Given the description of an element on the screen output the (x, y) to click on. 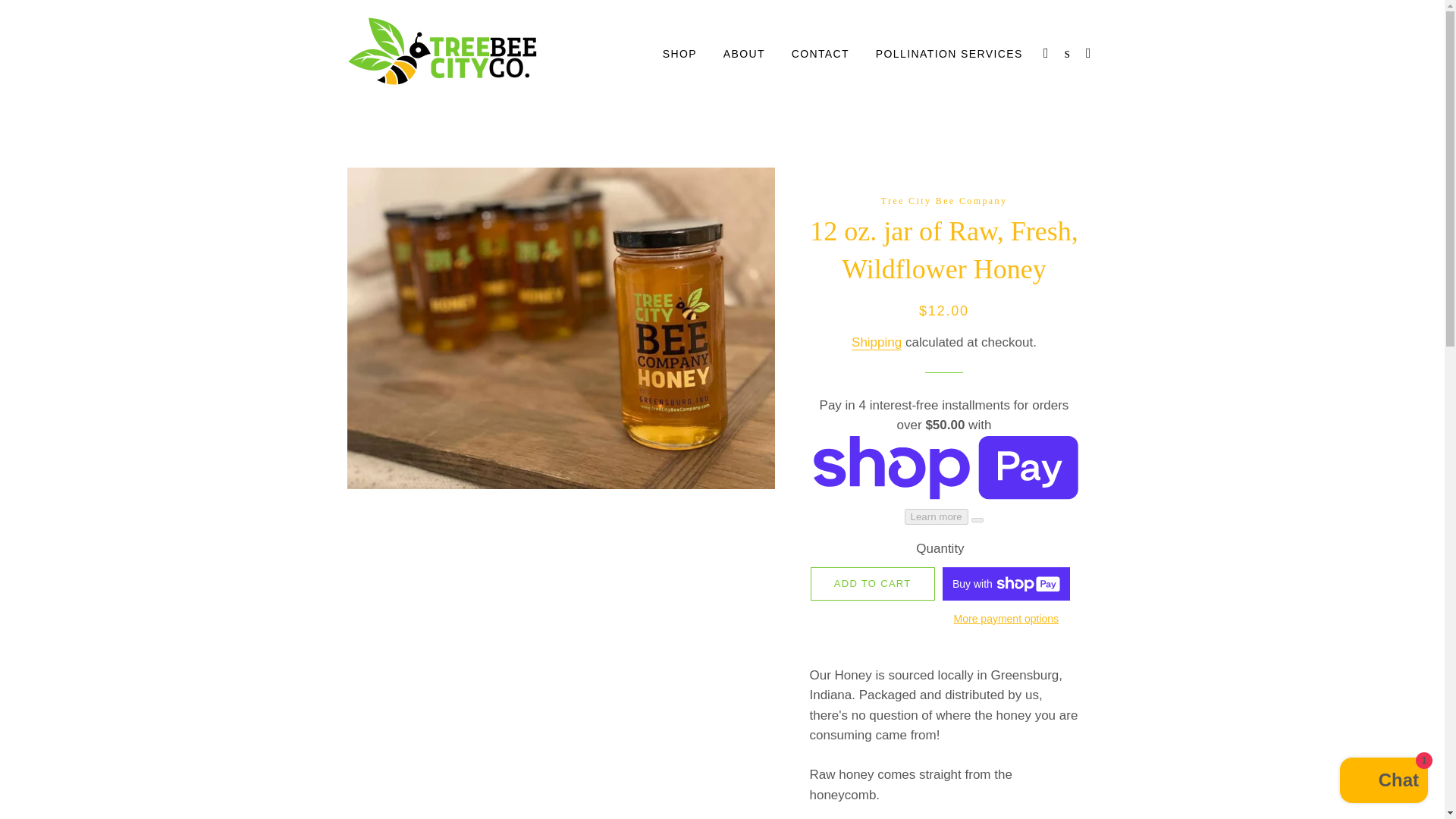
Shopify online store chat (1383, 781)
CONTACT (820, 54)
SHOP (678, 54)
More payment options (1006, 619)
ADD TO CART (872, 583)
Shipping (876, 342)
POLLINATION SERVICES (948, 54)
ABOUT (743, 54)
